Given the description of an element on the screen output the (x, y) to click on. 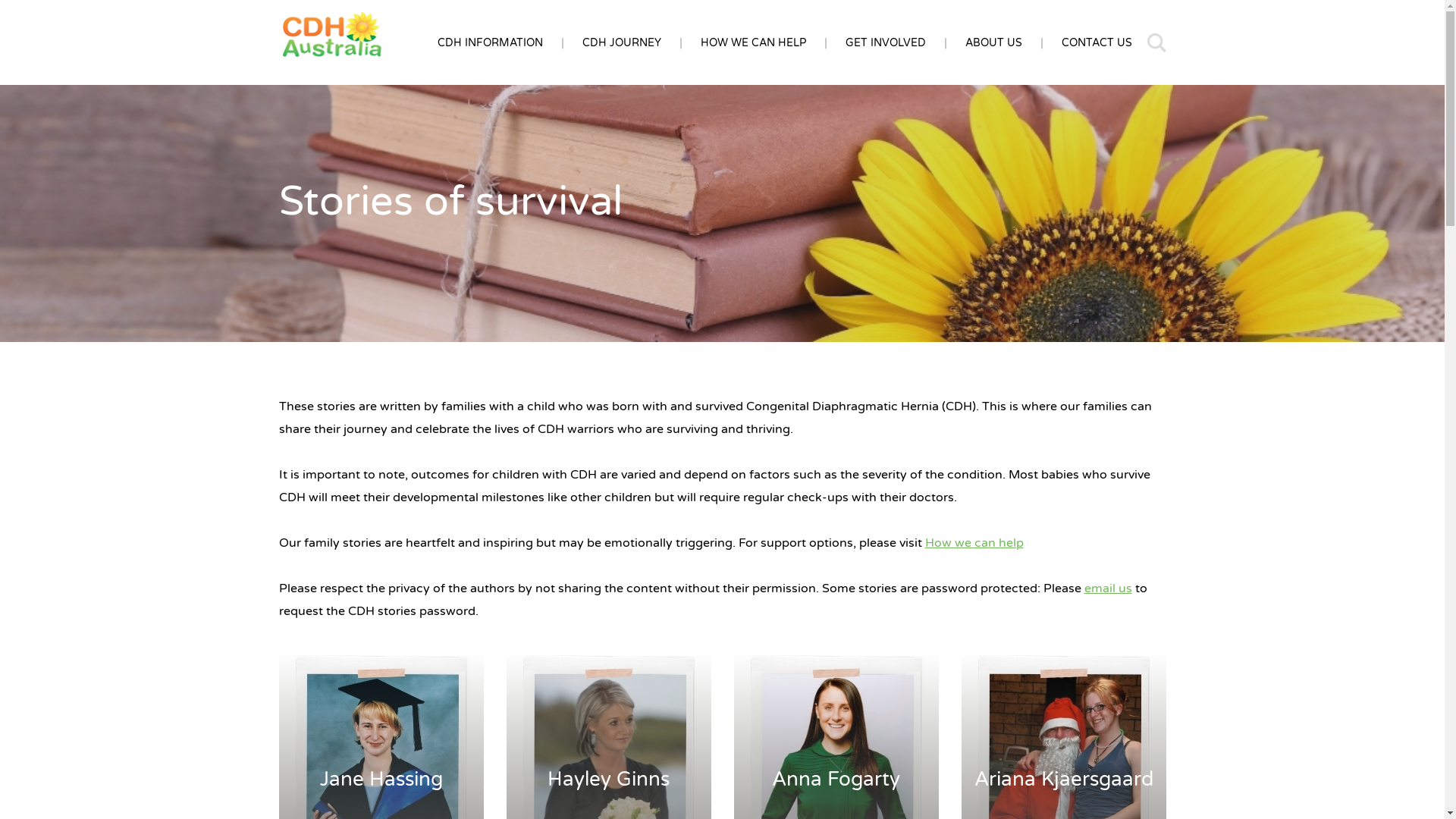
CDH JOURNEY Element type: text (621, 42)
email us Element type: text (1108, 588)
ABOUT US Element type: text (992, 42)
CDH INFORMATION Element type: text (489, 42)
GET INVOLVED Element type: text (884, 42)
Search Element type: text (892, 409)
CONTACT US Element type: text (1096, 42)
HOW WE CAN HELP Element type: text (753, 42)
How we can help Element type: text (974, 542)
